Given the description of an element on the screen output the (x, y) to click on. 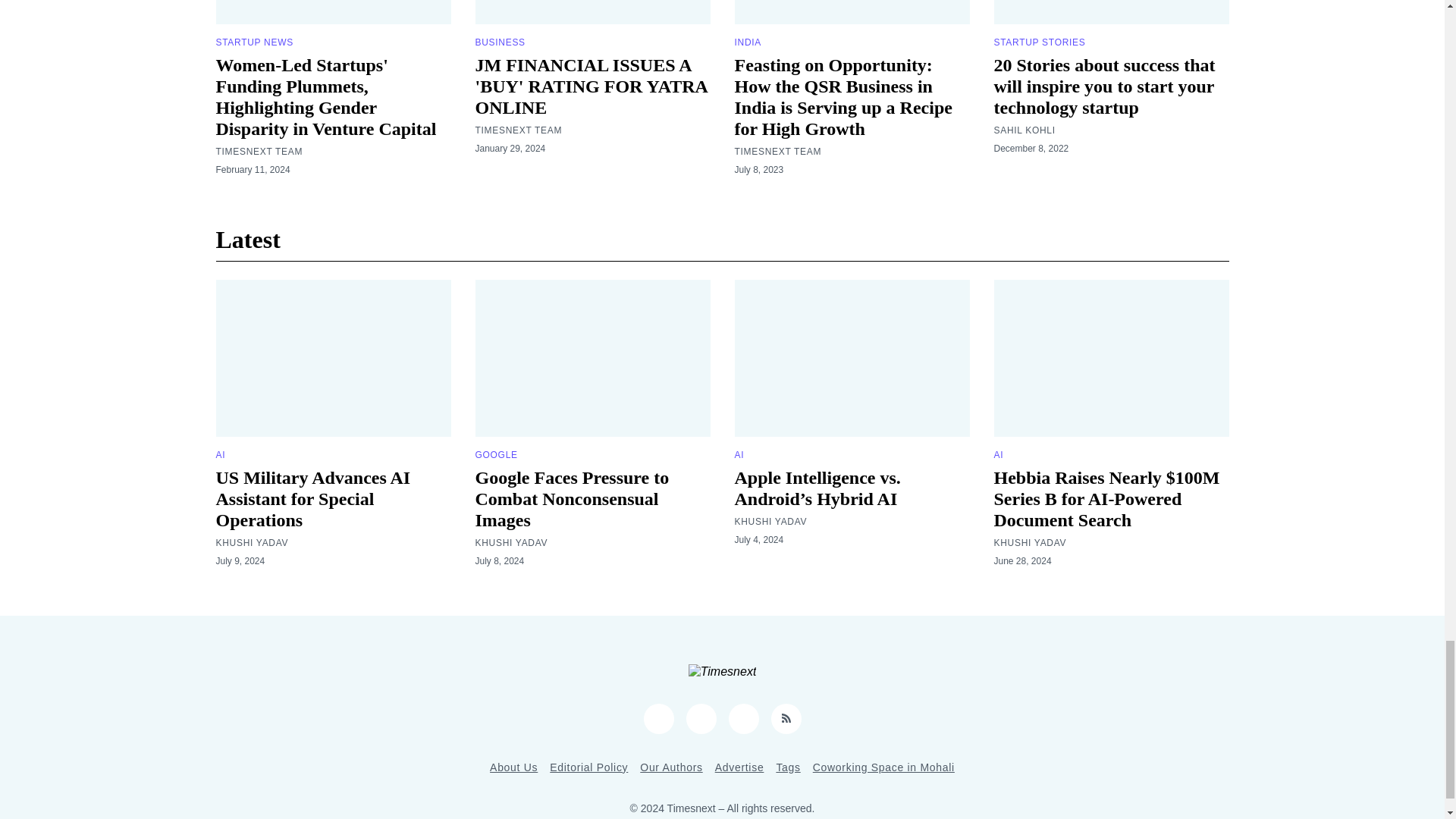
INDIA (747, 41)
BUSINESS (499, 41)
JM FINANCIAL ISSUES A 'BUY' RATING FOR YATRA ONLINE (590, 86)
TIMESNEXT TEAM (258, 151)
STARTUP NEWS (253, 41)
TIMESNEXT TEAM (518, 130)
